Given the description of an element on the screen output the (x, y) to click on. 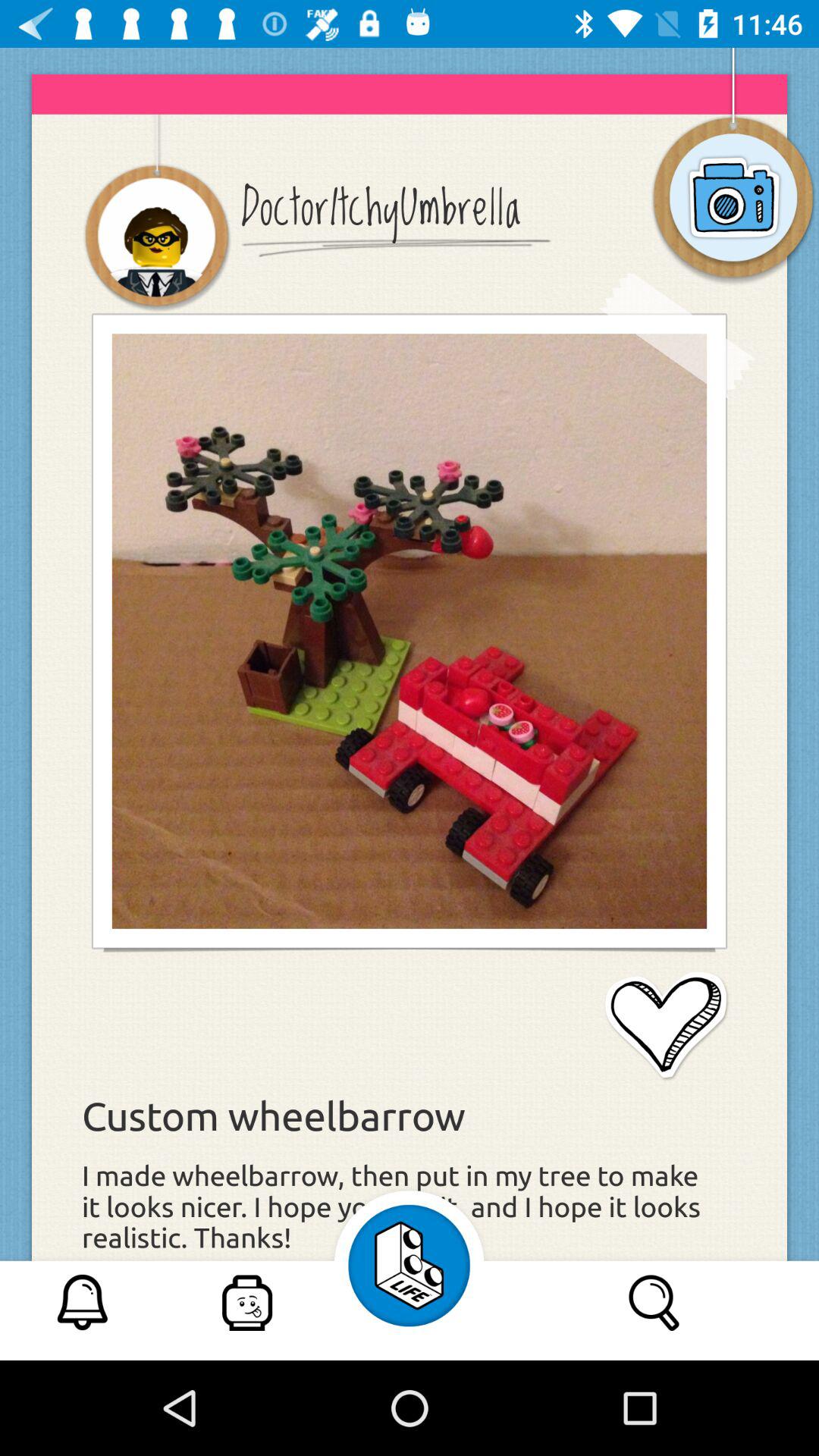
click on top left icon (155, 238)
click on second option at bottom of page (247, 1302)
click the icon left to search icon (409, 1265)
select the life symbol at  the end of the page (409, 1265)
